Given the description of an element on the screen output the (x, y) to click on. 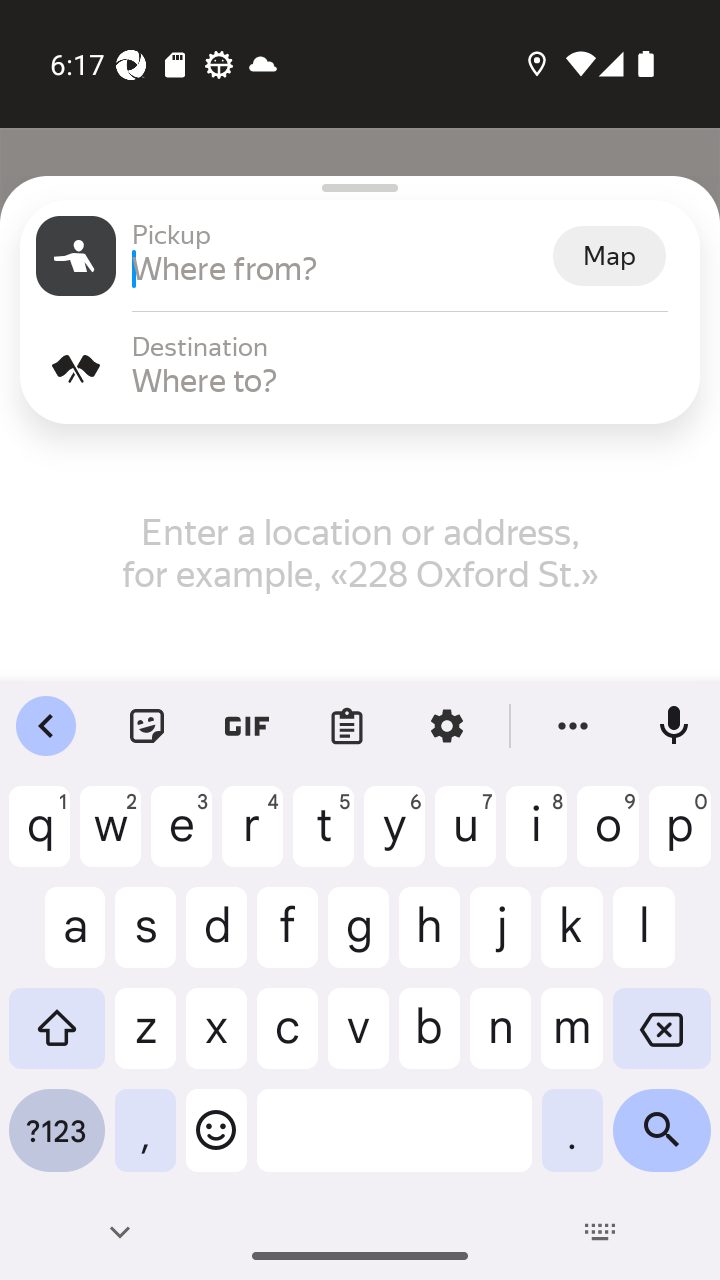
Pickup Pickup Where from? Map (359, 255)
Map (609, 256)
Where from? (340, 268)
Destination Destination Where to? (359, 367)
Where to? (407, 380)
